Given the description of an element on the screen output the (x, y) to click on. 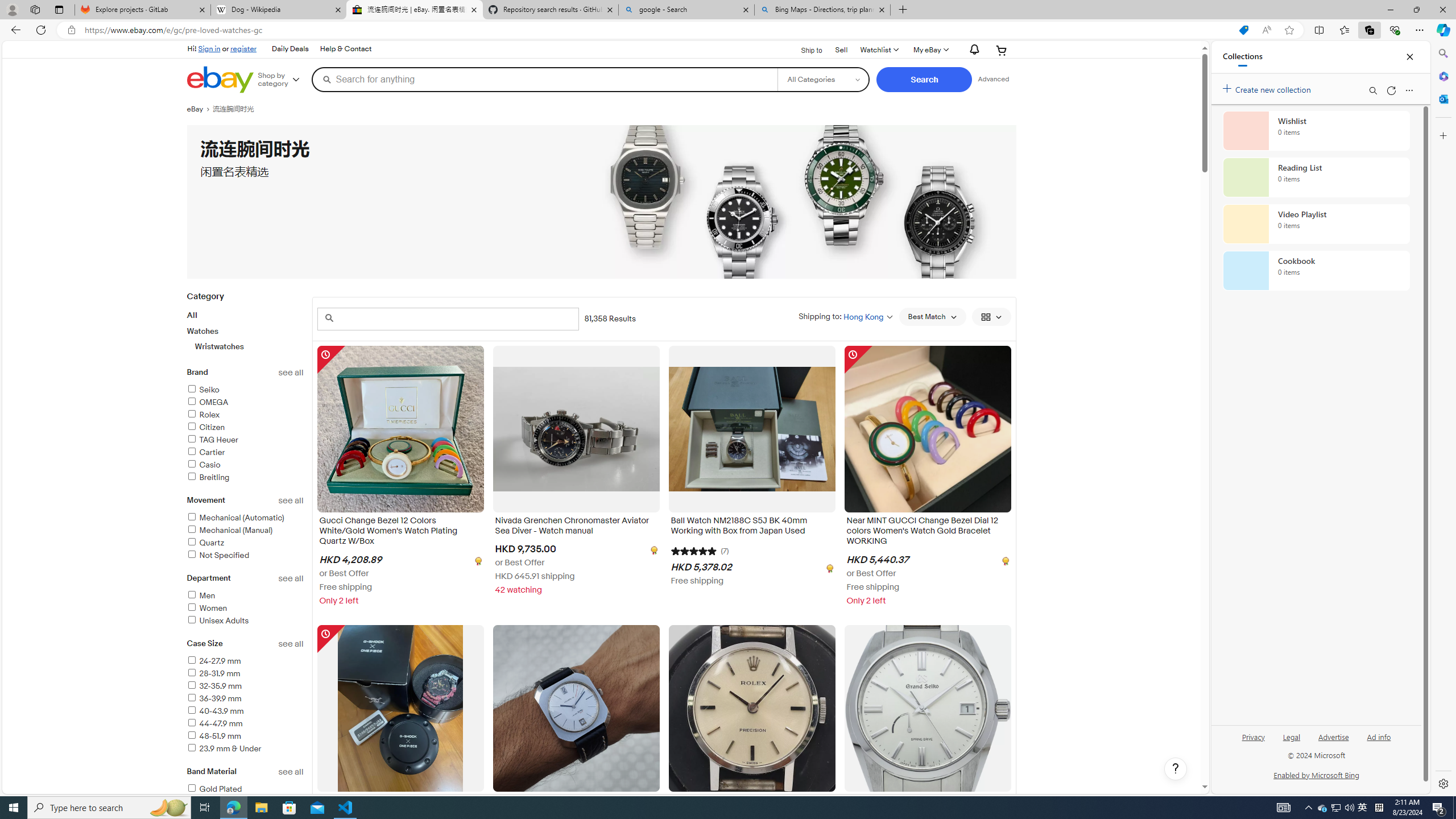
Help & Contact (345, 49)
Gold Plated (213, 788)
Cookbook collection, 0 items (1316, 270)
48-51.9 mm (245, 736)
register (243, 48)
Reading List collection, 0 items (1316, 177)
Casio (245, 465)
23.9 mm & Under (245, 749)
More options menu (1409, 90)
40-43.9 mm (215, 710)
